Given the description of an element on the screen output the (x, y) to click on. 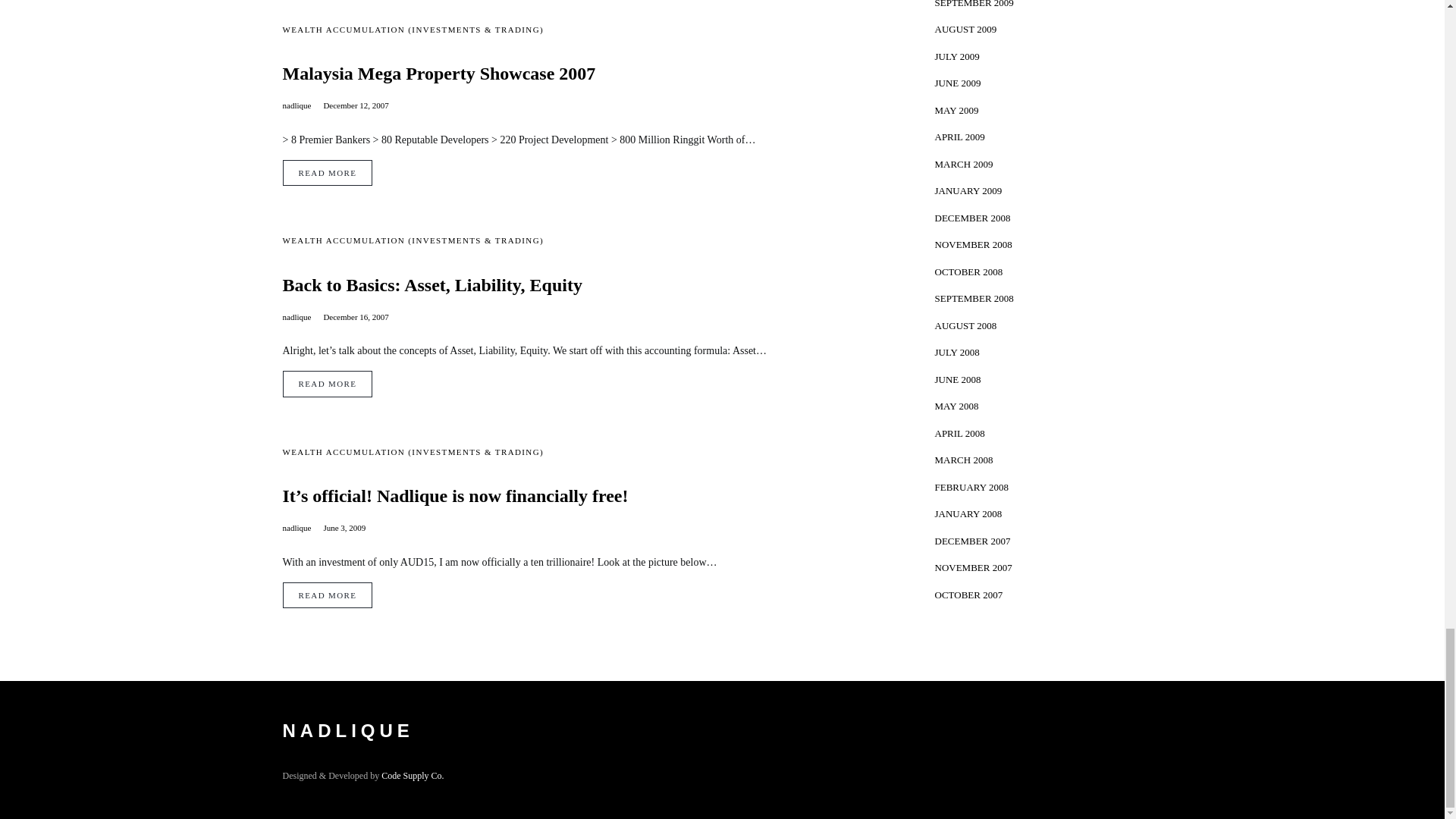
View all posts by nadlique (296, 527)
View all posts by nadlique (296, 317)
View all posts by nadlique (296, 105)
Back to Basics: Asset, Liability, Equity (585, 284)
Malaysia Mega Property Showcase 2007 (585, 73)
